Given the description of an element on the screen output the (x, y) to click on. 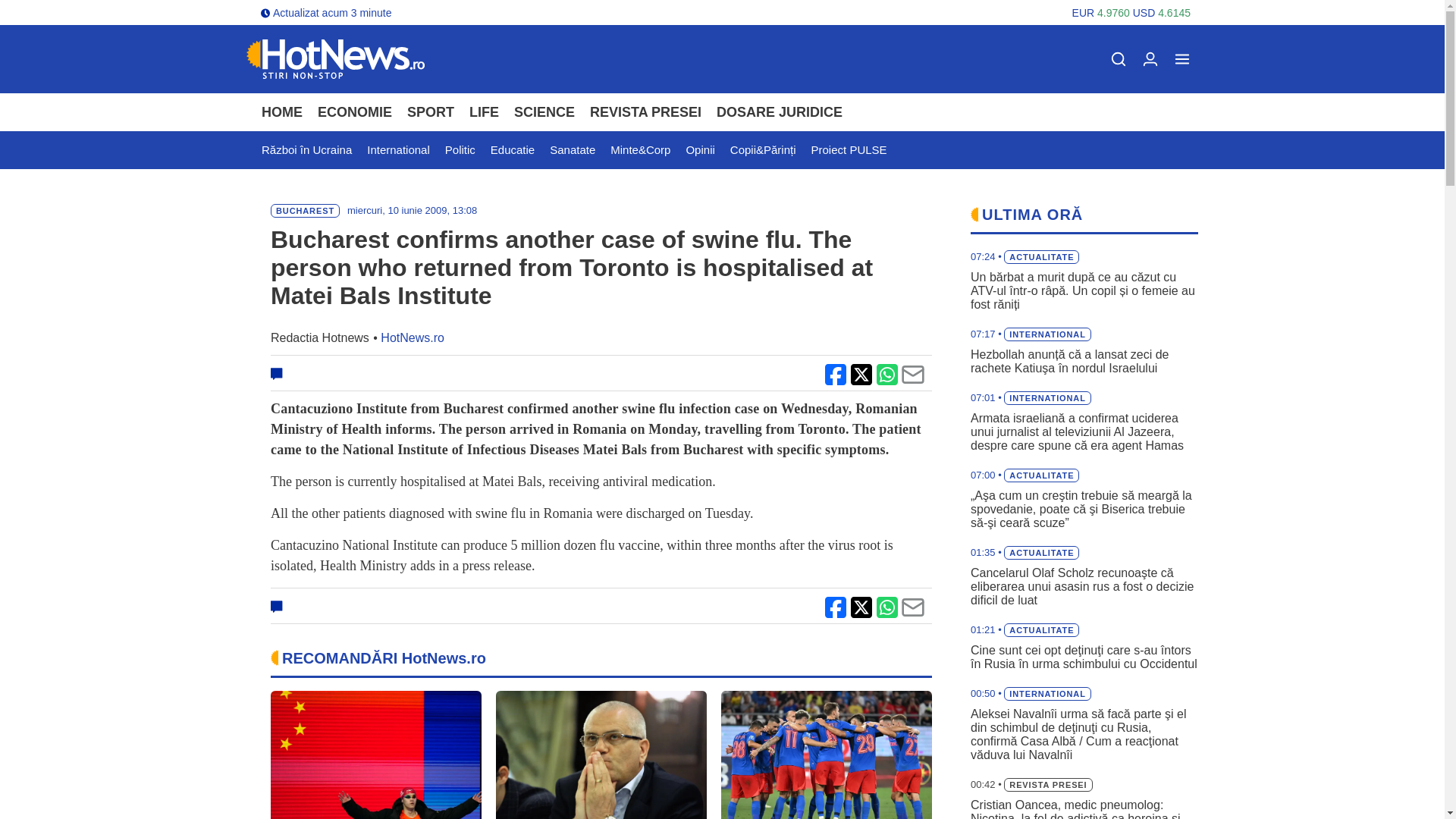
Actualizat: miercuri, 10 iunie 2009, 13:08 (412, 210)
